Given the description of an element on the screen output the (x, y) to click on. 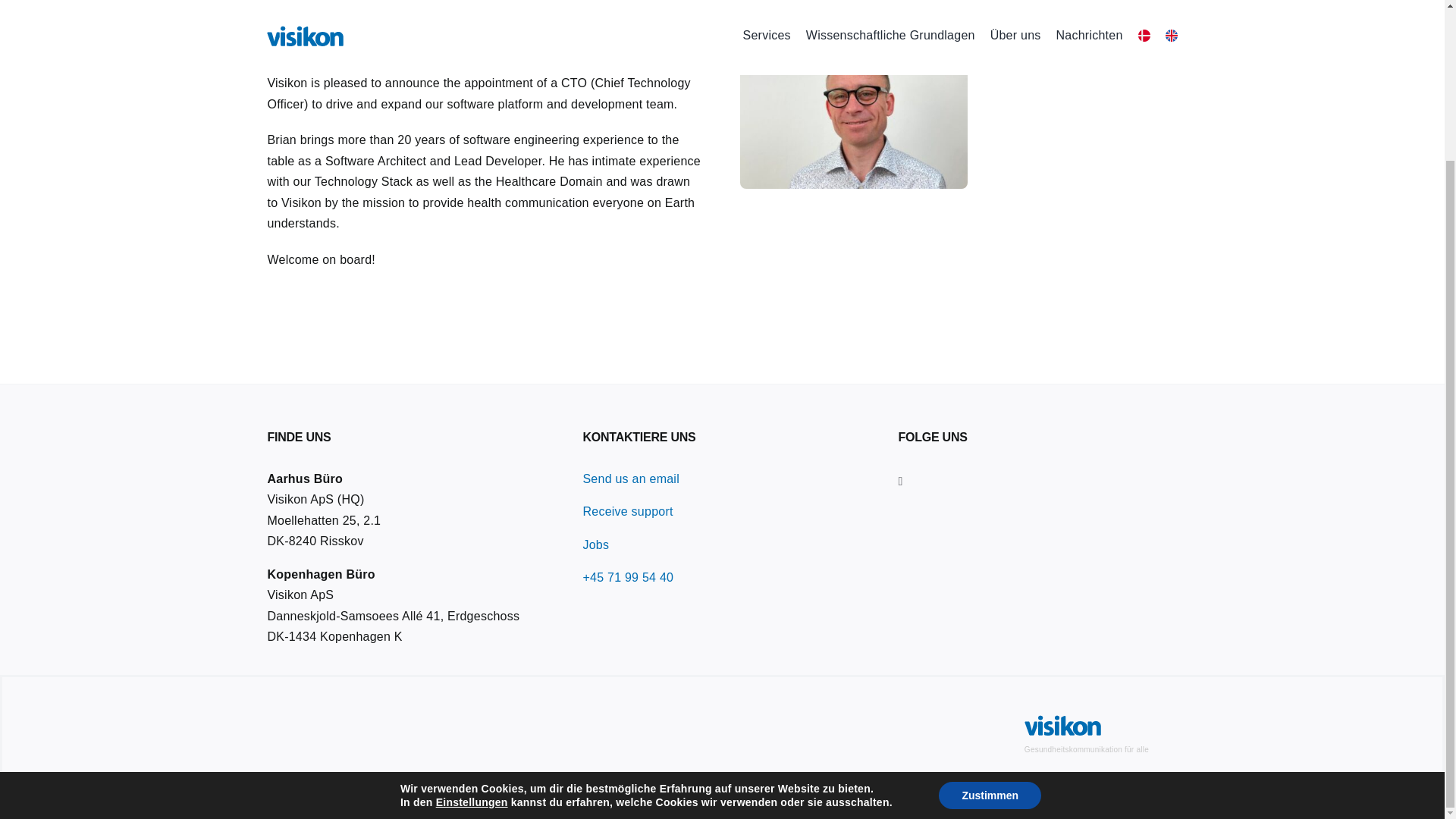
Zustimmen (990, 605)
Jobs (595, 544)
Send us an email (630, 478)
Receive support (627, 511)
latest7 (853, 112)
Einstellungen (471, 612)
